Given the description of an element on the screen output the (x, y) to click on. 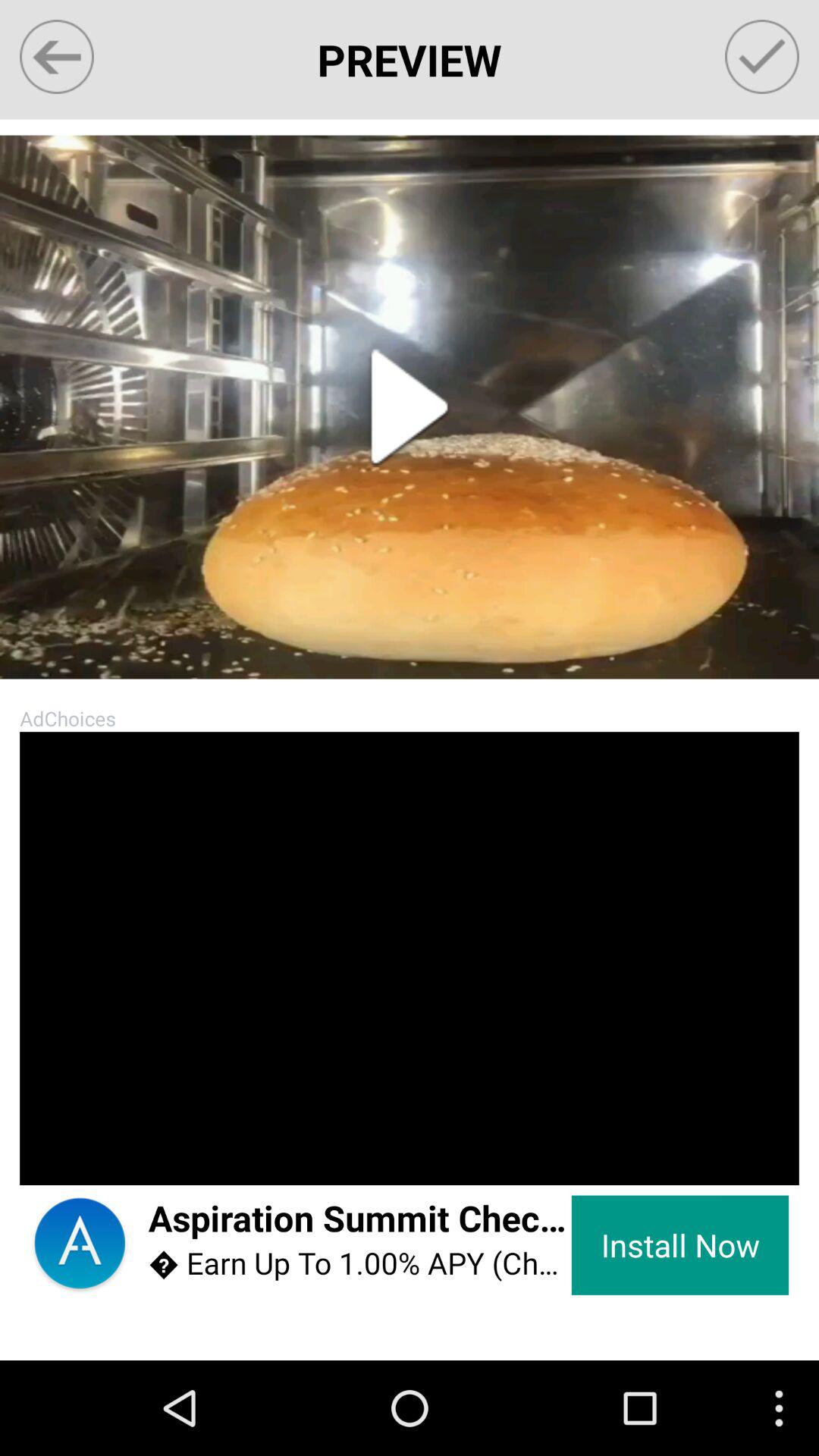
click to previous option (56, 56)
